Given the description of an element on the screen output the (x, y) to click on. 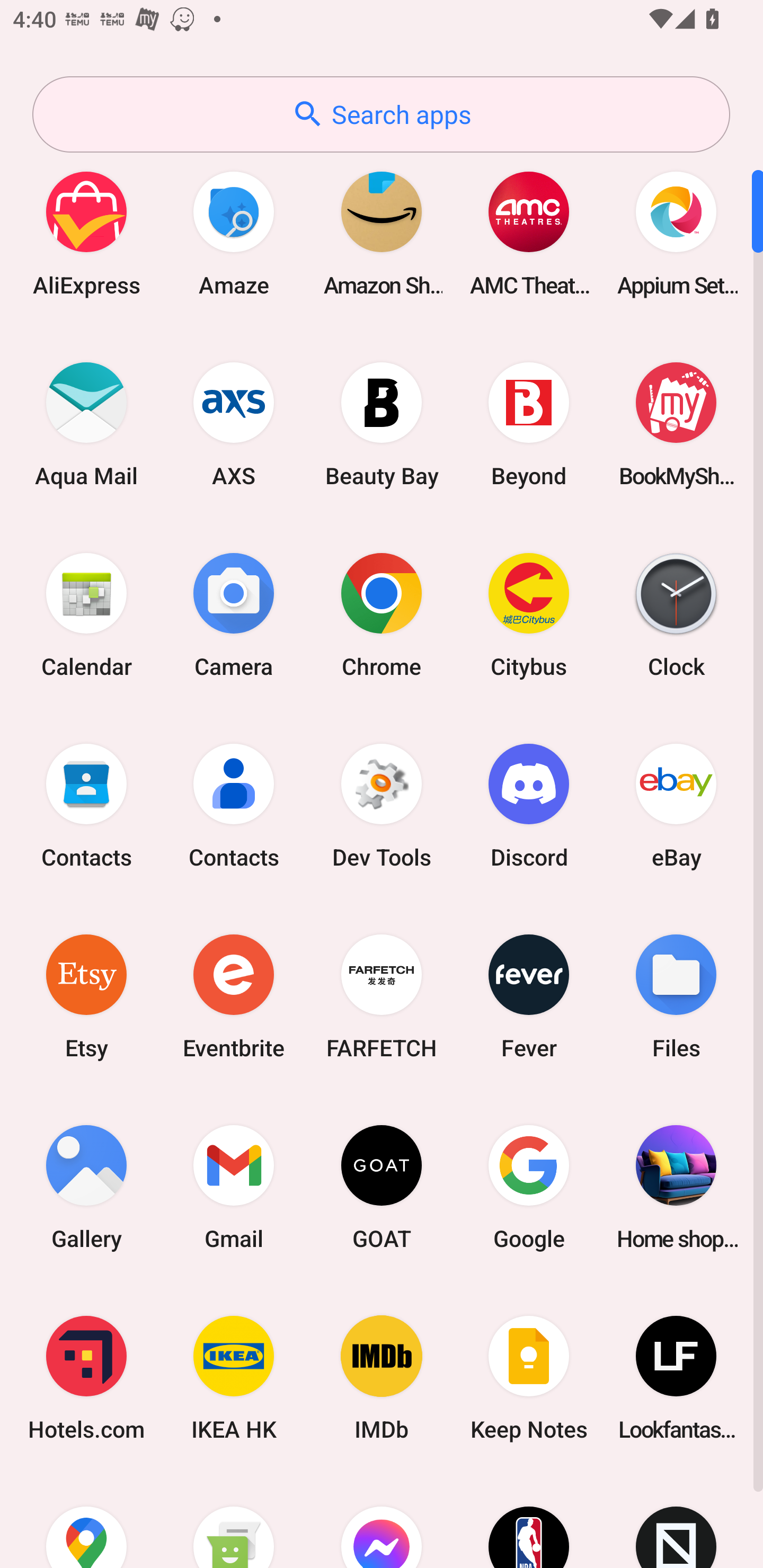
  Search apps (381, 114)
AliExpress (86, 233)
Amaze (233, 233)
Amazon Shopping (381, 233)
AMC Theatres (528, 233)
Appium Settings (676, 233)
Aqua Mail (86, 424)
AXS (233, 424)
Beauty Bay (381, 424)
Beyond (528, 424)
BookMyShow (676, 424)
Calendar (86, 614)
Camera (233, 614)
Chrome (381, 614)
Citybus (528, 614)
Clock (676, 614)
Contacts (86, 805)
Contacts (233, 805)
Dev Tools (381, 805)
Discord (528, 805)
eBay (676, 805)
Etsy (86, 996)
Eventbrite (233, 996)
FARFETCH (381, 996)
Fever (528, 996)
Files (676, 996)
Gallery (86, 1186)
Gmail (233, 1186)
GOAT (381, 1186)
Google (528, 1186)
Home shopping (676, 1186)
Hotels.com (86, 1377)
IKEA HK (233, 1377)
IMDb (381, 1377)
Keep Notes (528, 1377)
Lookfantastic (676, 1377)
Maps (86, 1520)
Messaging (233, 1520)
Messenger (381, 1520)
NBA (528, 1520)
Novelship (676, 1520)
